Given the description of an element on the screen output the (x, y) to click on. 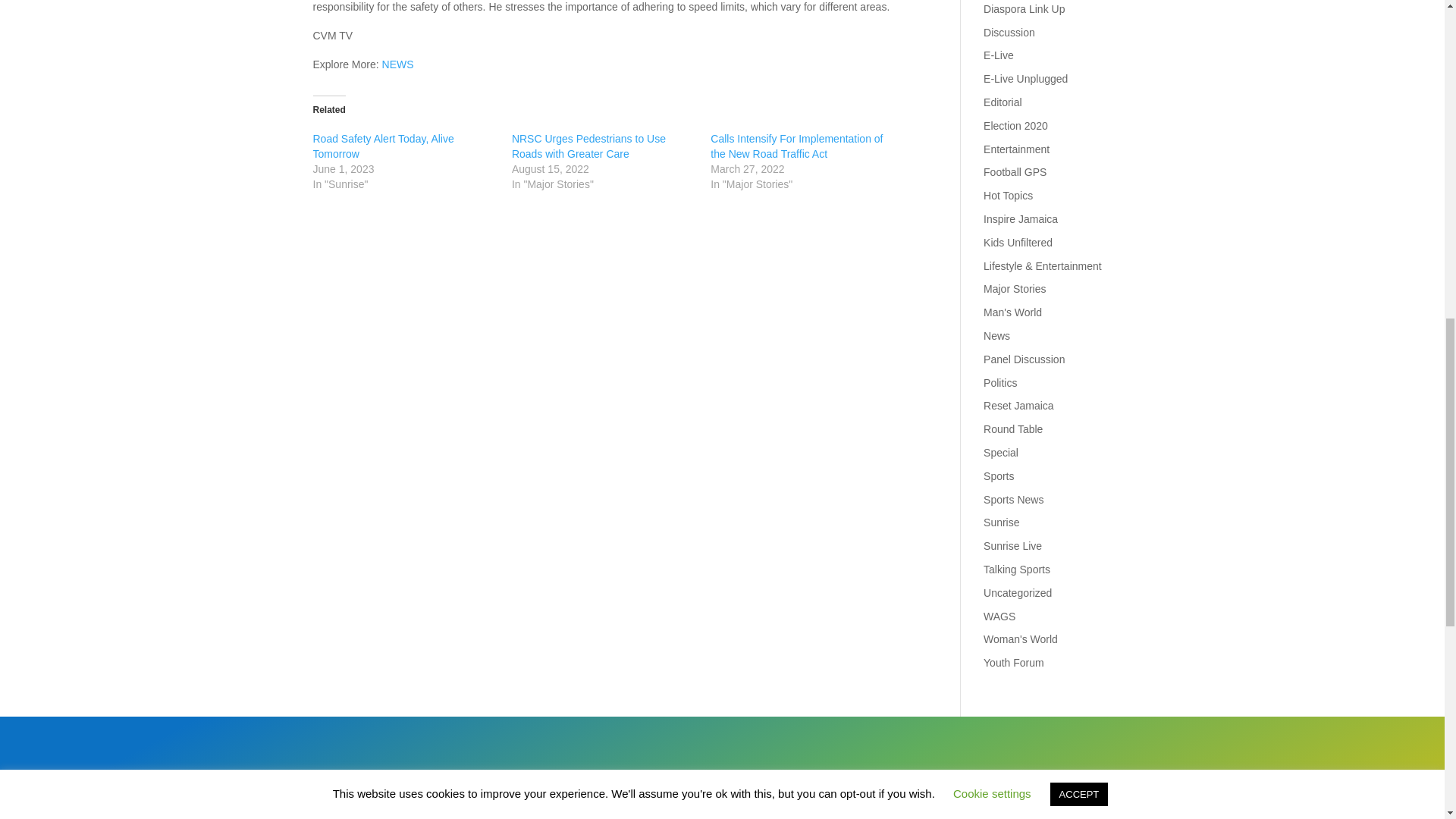
NEWS (397, 64)
NRSC Urges Pedestrians to Use Roads with Greater Care (588, 145)
Diaspora Link Up (1024, 9)
Football GPS (1015, 172)
Road Safety Alert Today, Alive Tomorrow (382, 145)
Inspire Jamaica (1021, 218)
Election 2020 (1016, 125)
Road Safety Alert Today, Alive Tomorrow (382, 145)
Entertainment (1016, 149)
